Given the description of an element on the screen output the (x, y) to click on. 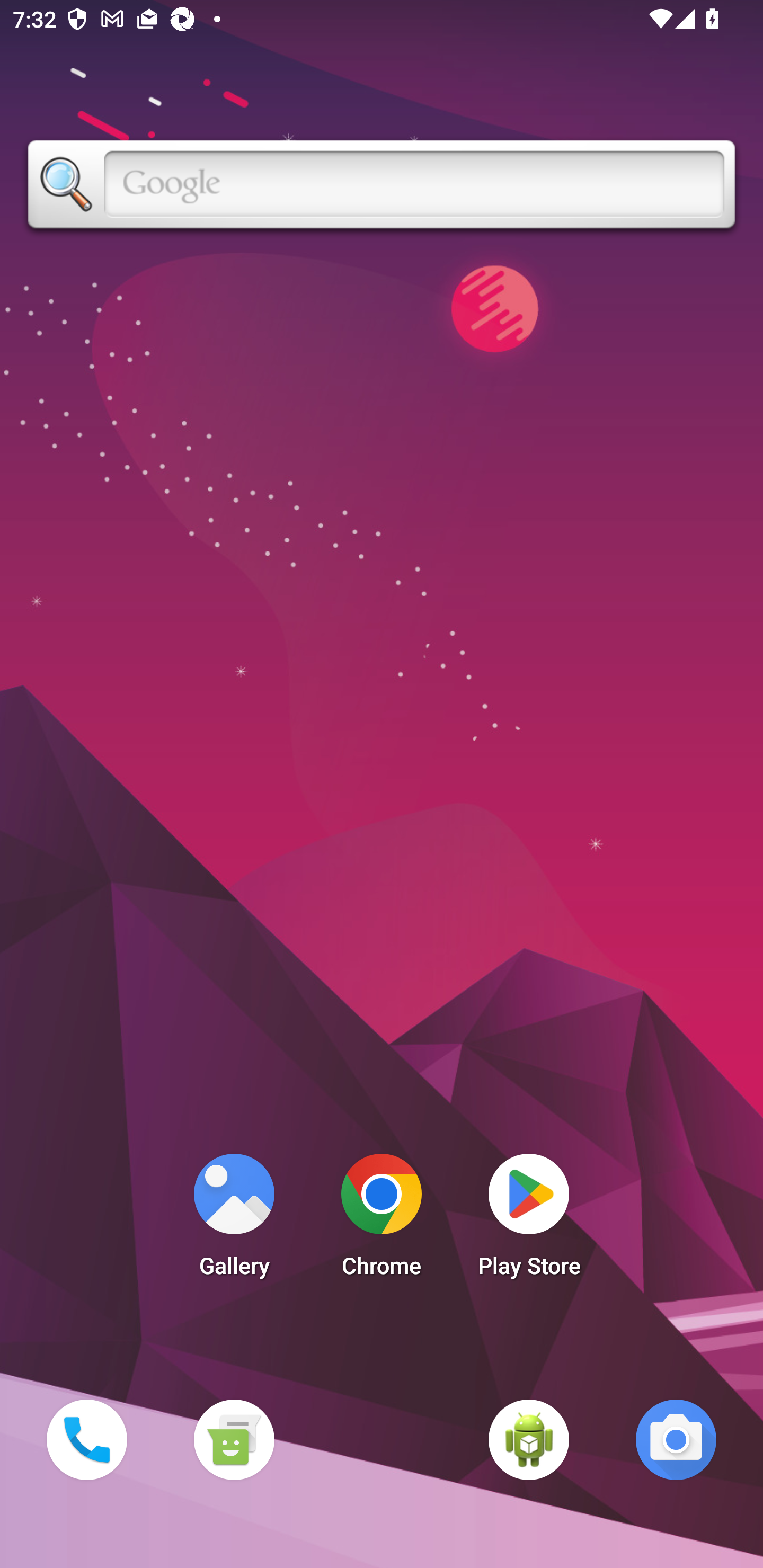
Gallery (233, 1220)
Chrome (381, 1220)
Play Store (528, 1220)
Phone (86, 1439)
Messaging (233, 1439)
WebView Browser Tester (528, 1439)
Camera (676, 1439)
